Given the description of an element on the screen output the (x, y) to click on. 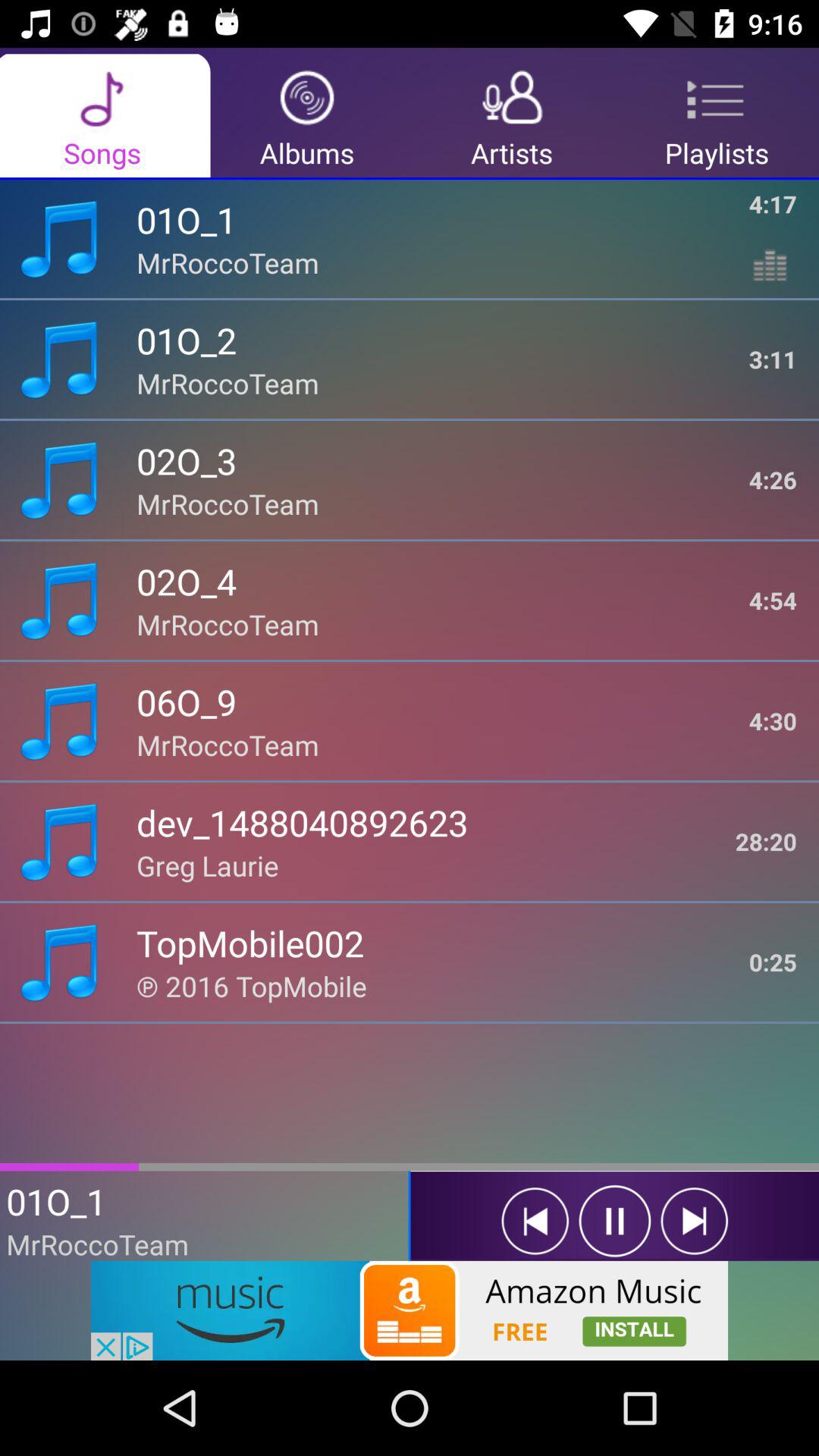
open advertisement (409, 1310)
